Given the description of an element on the screen output the (x, y) to click on. 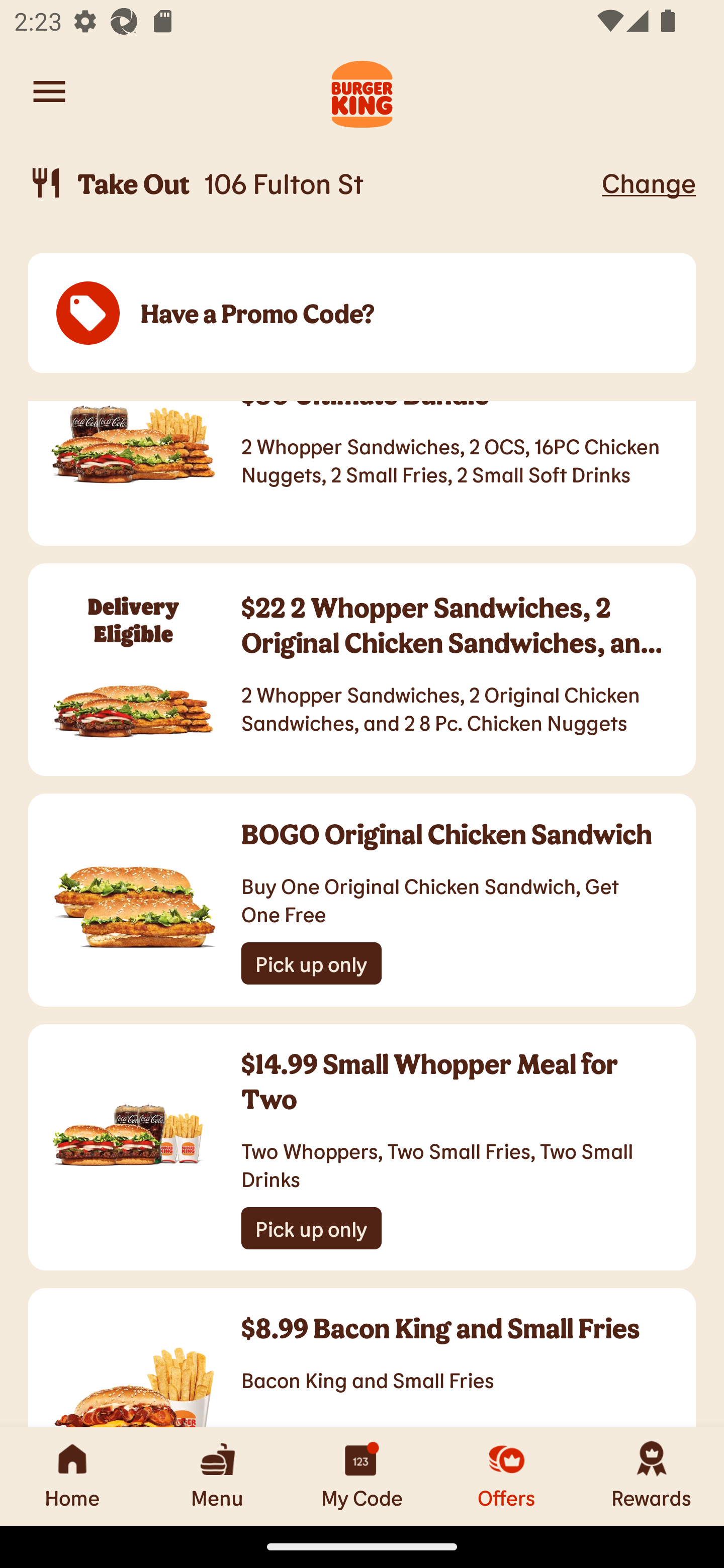
Burger King Logo. Navigate to Home (362, 91)
Navigate to account menu  (49, 91)
Take Out, 106 Fulton St  Take Out 106 Fulton St (311, 183)
Change (648, 182)
Have a Promo Code?  Have a Promo Code? (361, 313)
Home (72, 1475)
Menu (216, 1475)
My Code (361, 1475)
Offers (506, 1475)
Rewards (651, 1475)
